Given the description of an element on the screen output the (x, y) to click on. 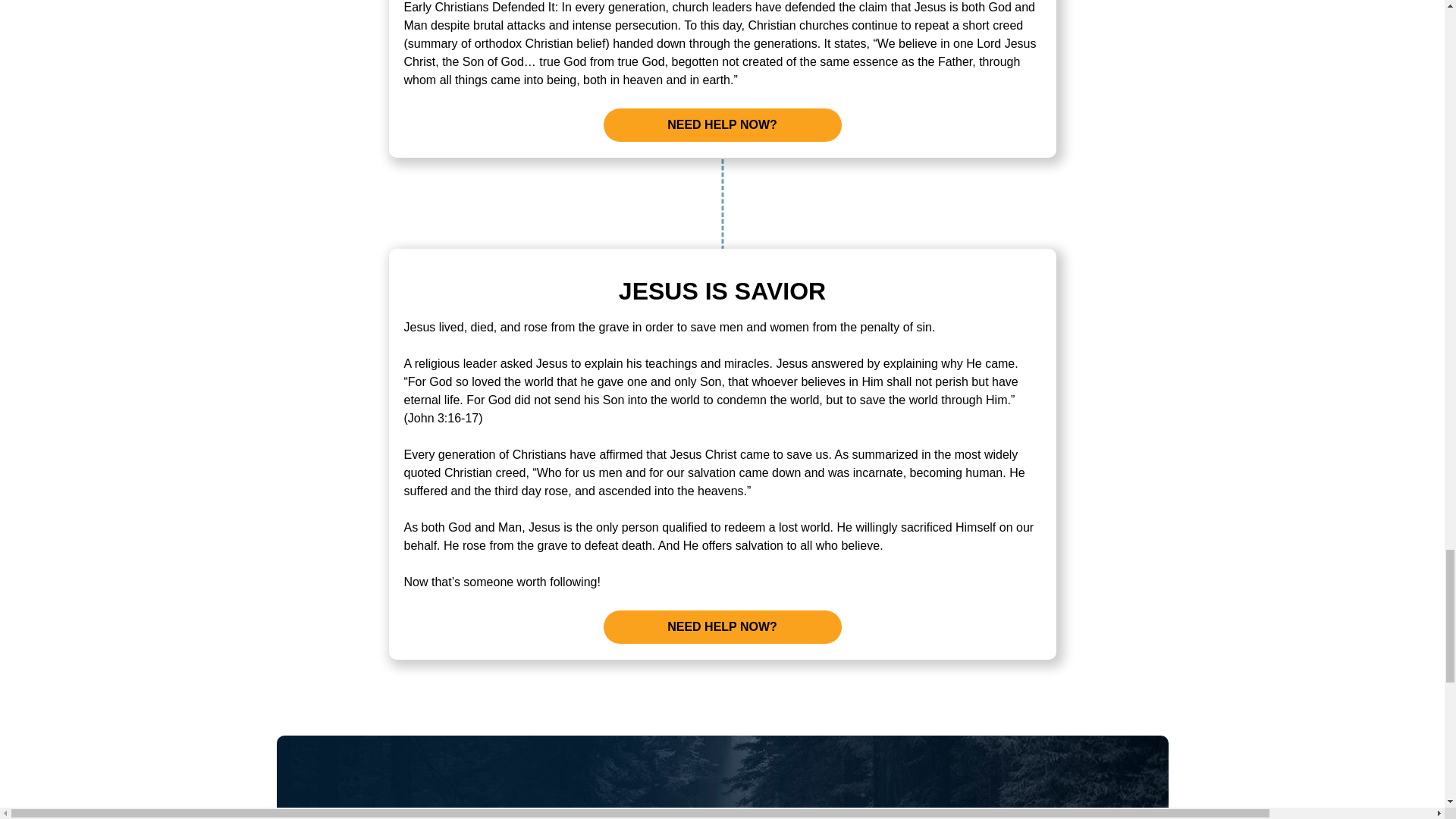
NEED HELP NOW? (721, 124)
NEED HELP NOW? (721, 626)
